Given the description of an element on the screen output the (x, y) to click on. 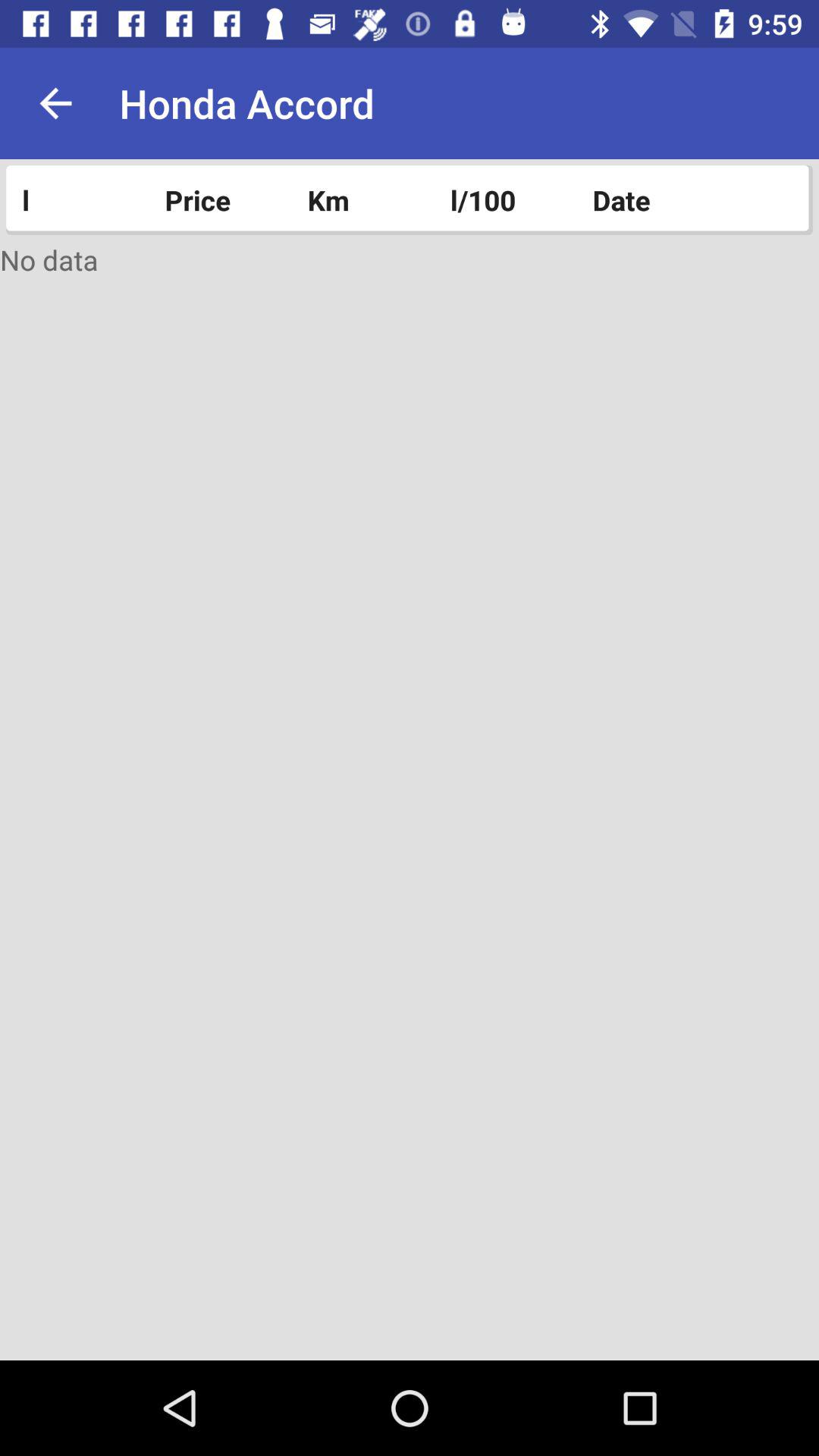
launch icon next to honda accord (55, 103)
